Given the description of an element on the screen output the (x, y) to click on. 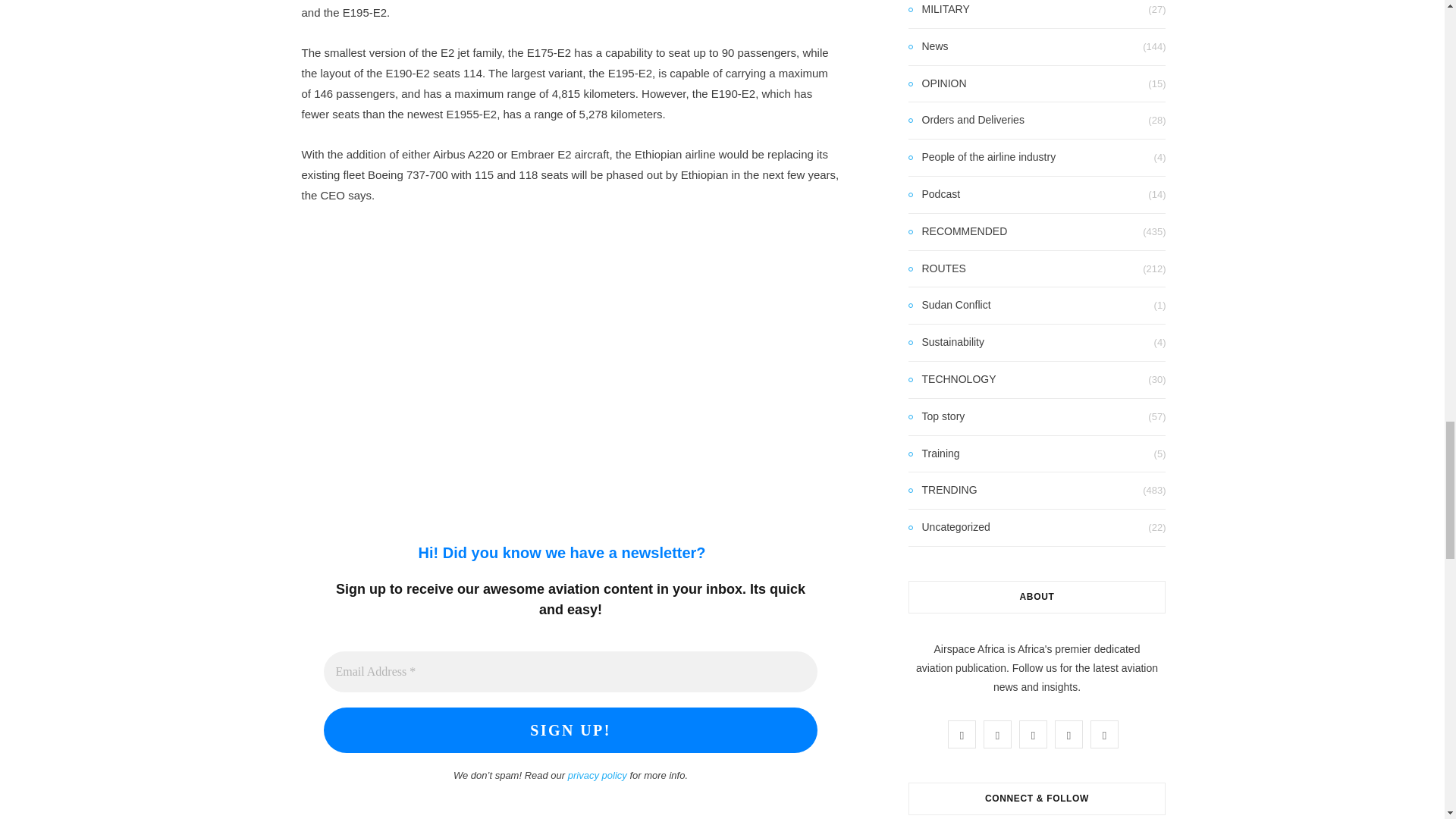
Sign Up! (569, 729)
